Given the description of an element on the screen output the (x, y) to click on. 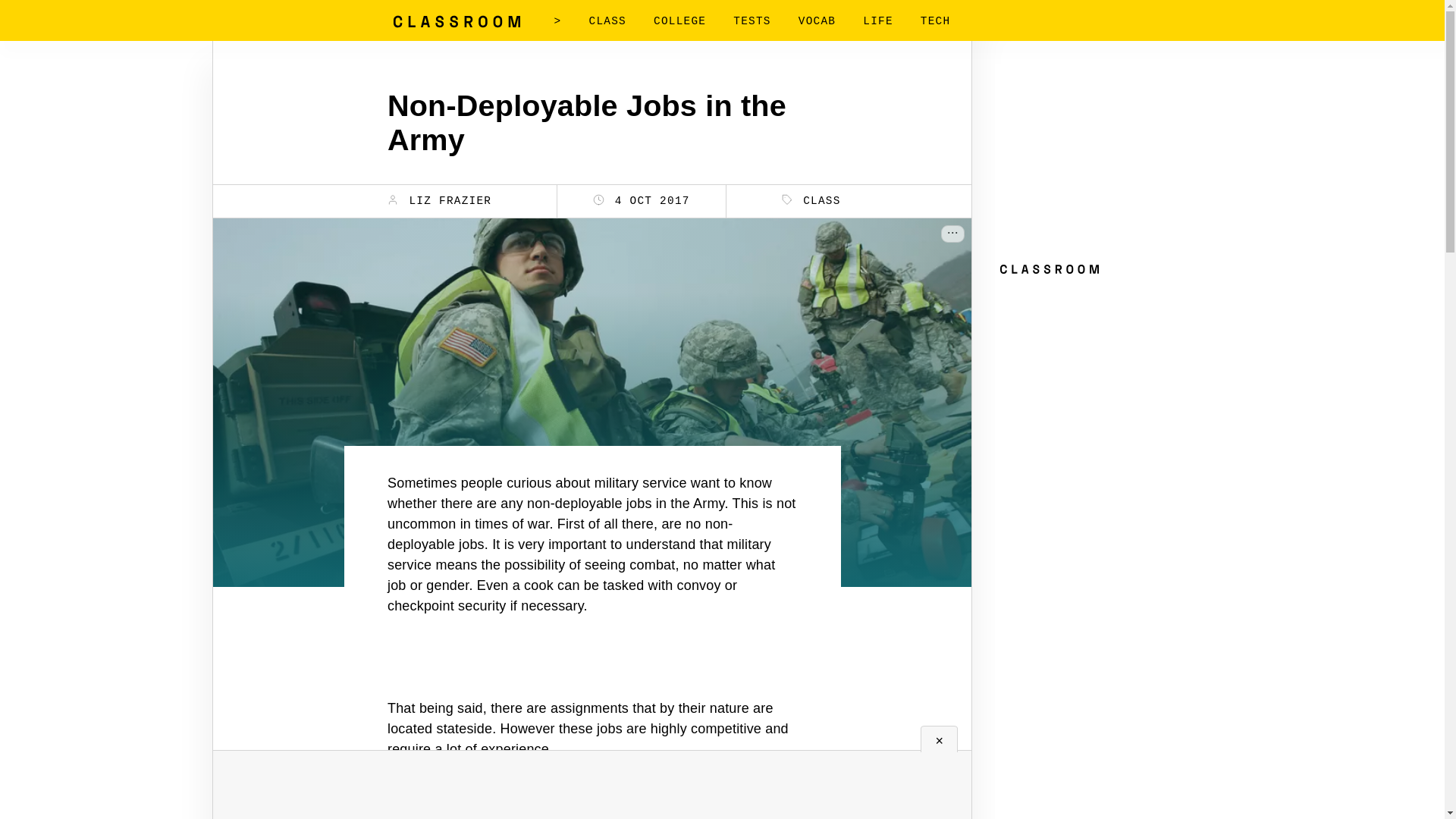
VOCAB (816, 21)
CLASS (811, 200)
LIFE (878, 21)
COLLEGE (679, 21)
TESTS (751, 21)
CLASS (607, 21)
TECH (935, 21)
